Given the description of an element on the screen output the (x, y) to click on. 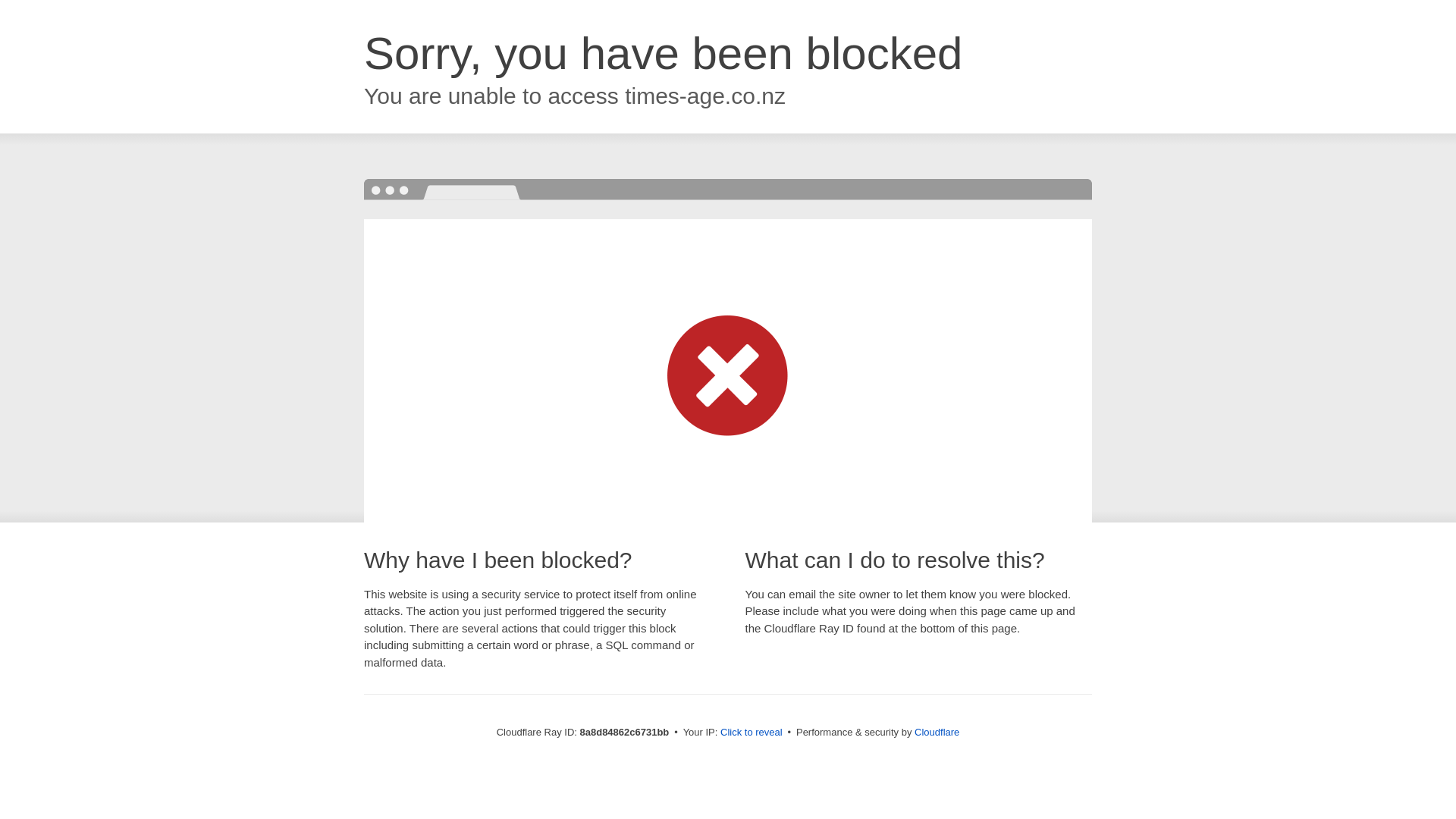
Cloudflare (936, 731)
Click to reveal (751, 732)
